Given the description of an element on the screen output the (x, y) to click on. 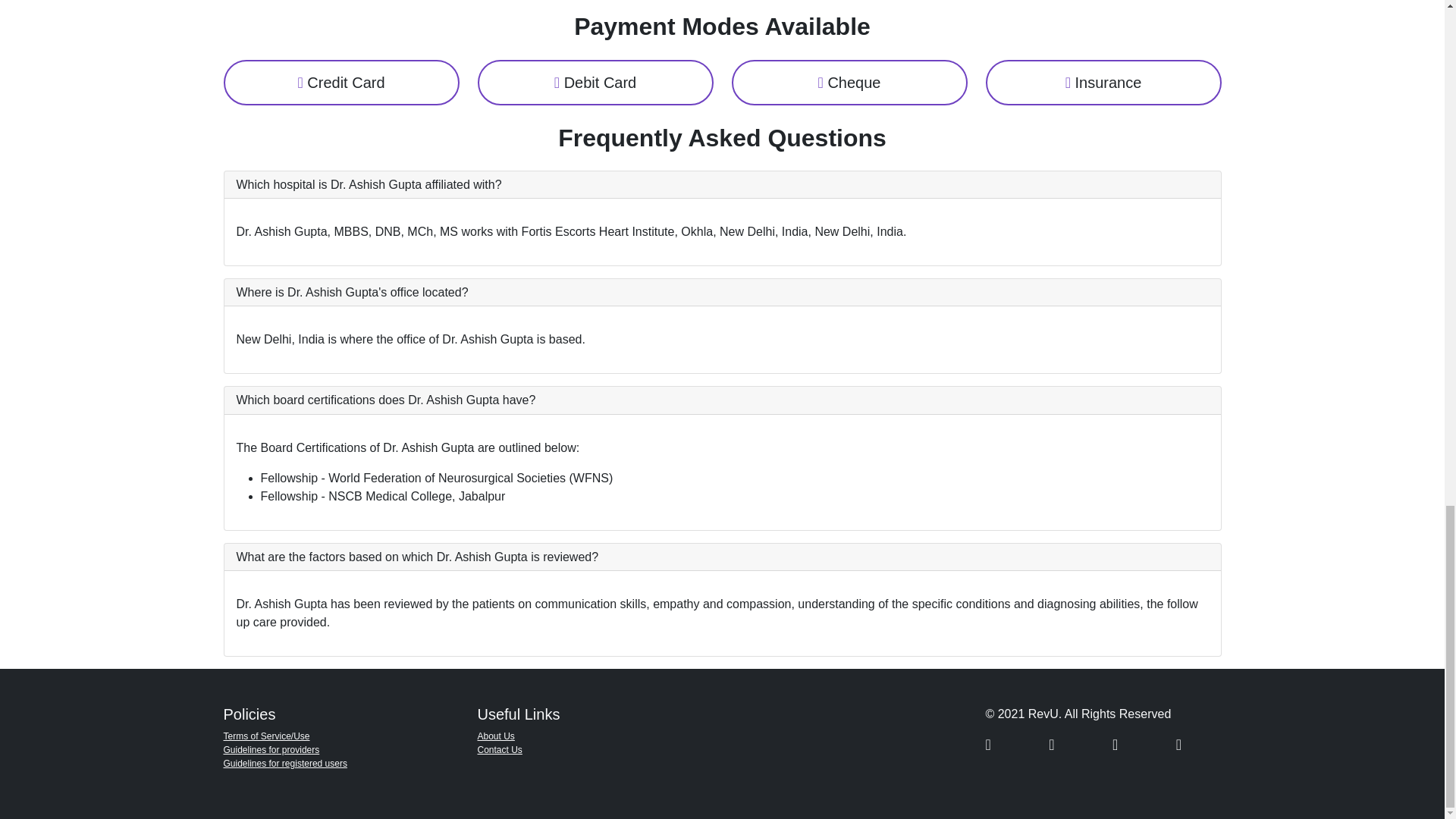
Contact Us (499, 749)
Guidelines for providers (270, 749)
About Us (496, 736)
Guidelines for registered users (284, 763)
